Given the description of an element on the screen output the (x, y) to click on. 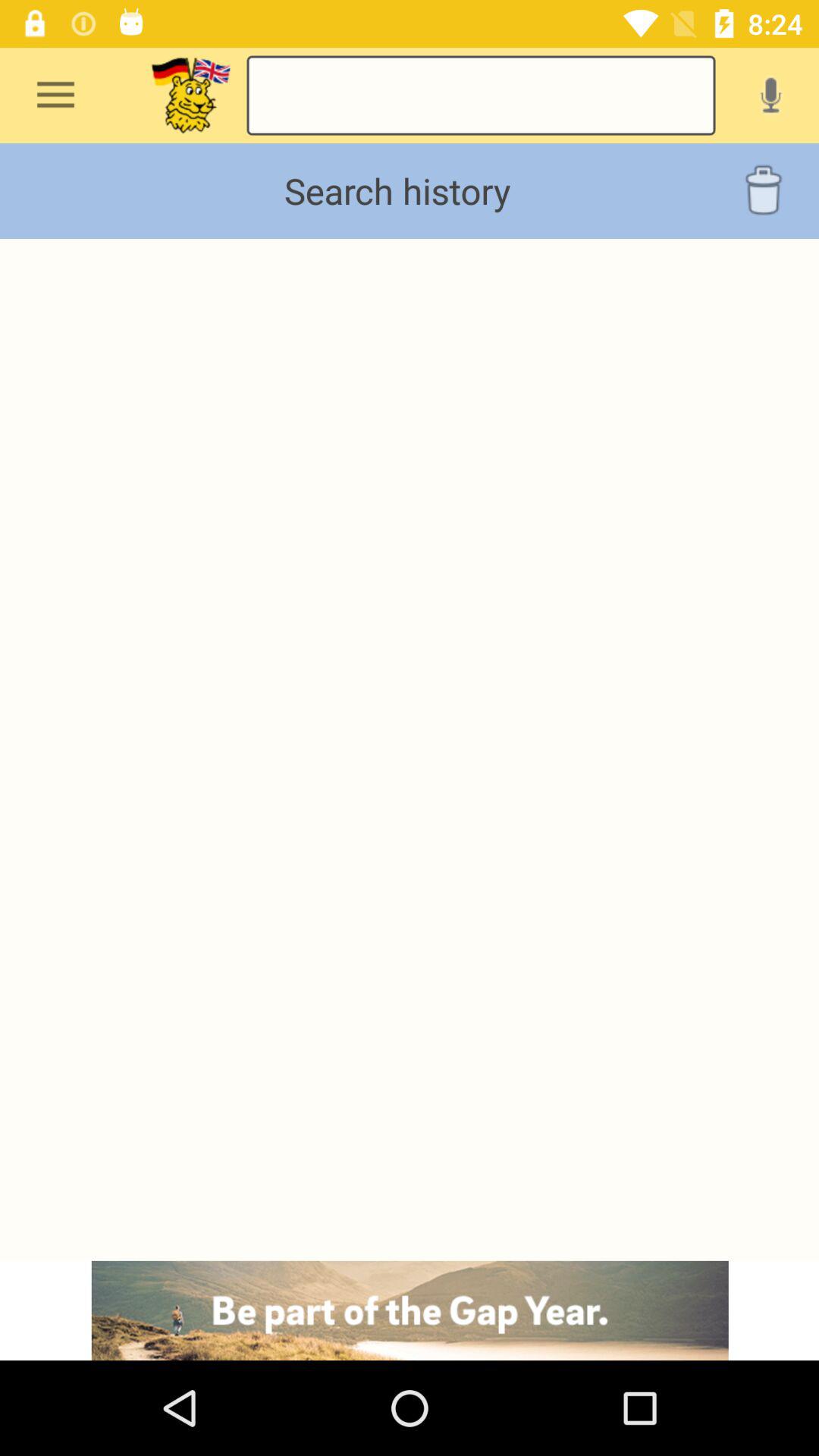
select this icon (190, 95)
